Given the description of an element on the screen output the (x, y) to click on. 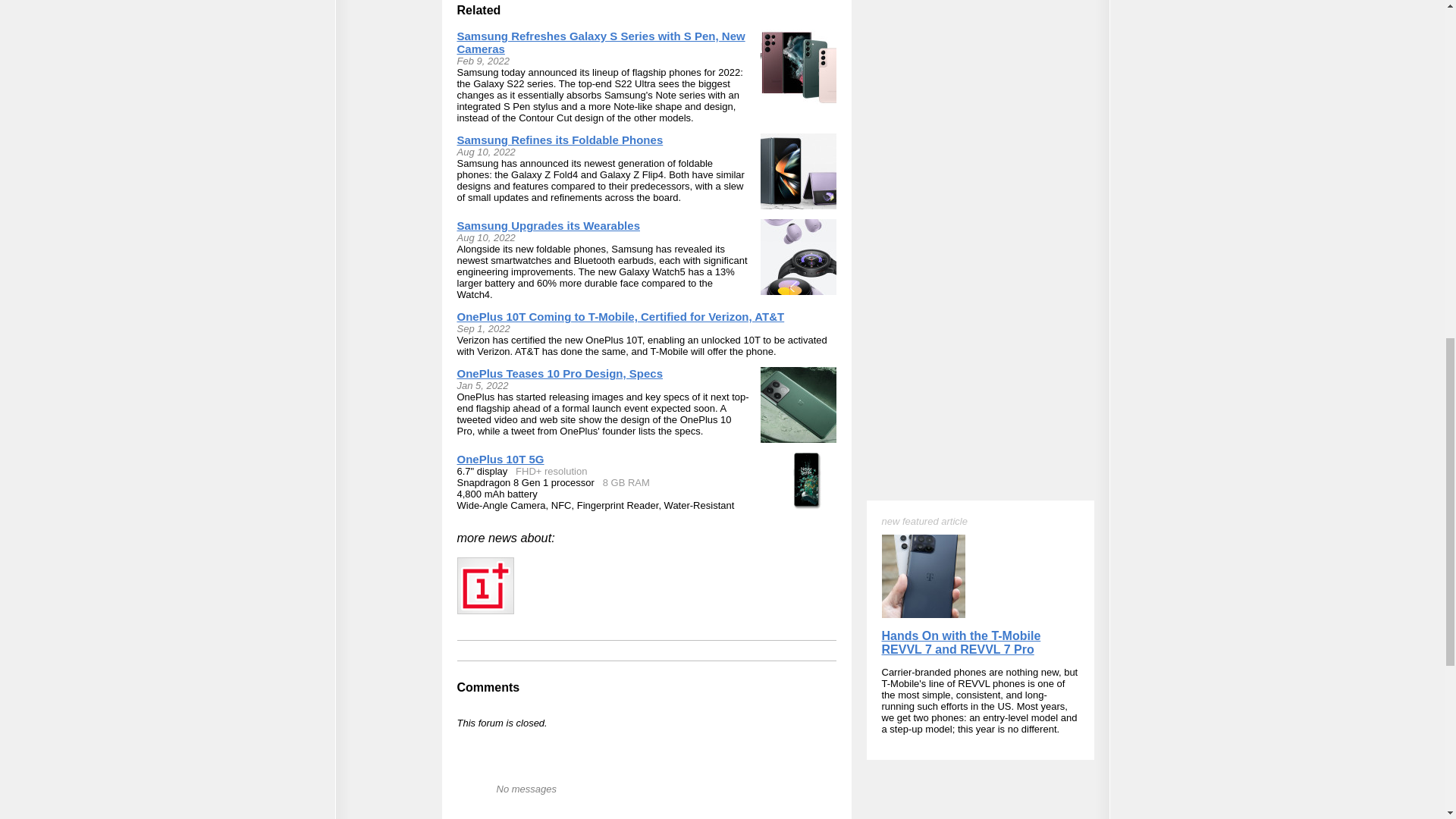
OnePlus (485, 585)
Hands On with the T-Mobile REVVL 7 and REVVL 7 Pro (960, 90)
Comments (488, 686)
Related (478, 10)
